Given the description of an element on the screen output the (x, y) to click on. 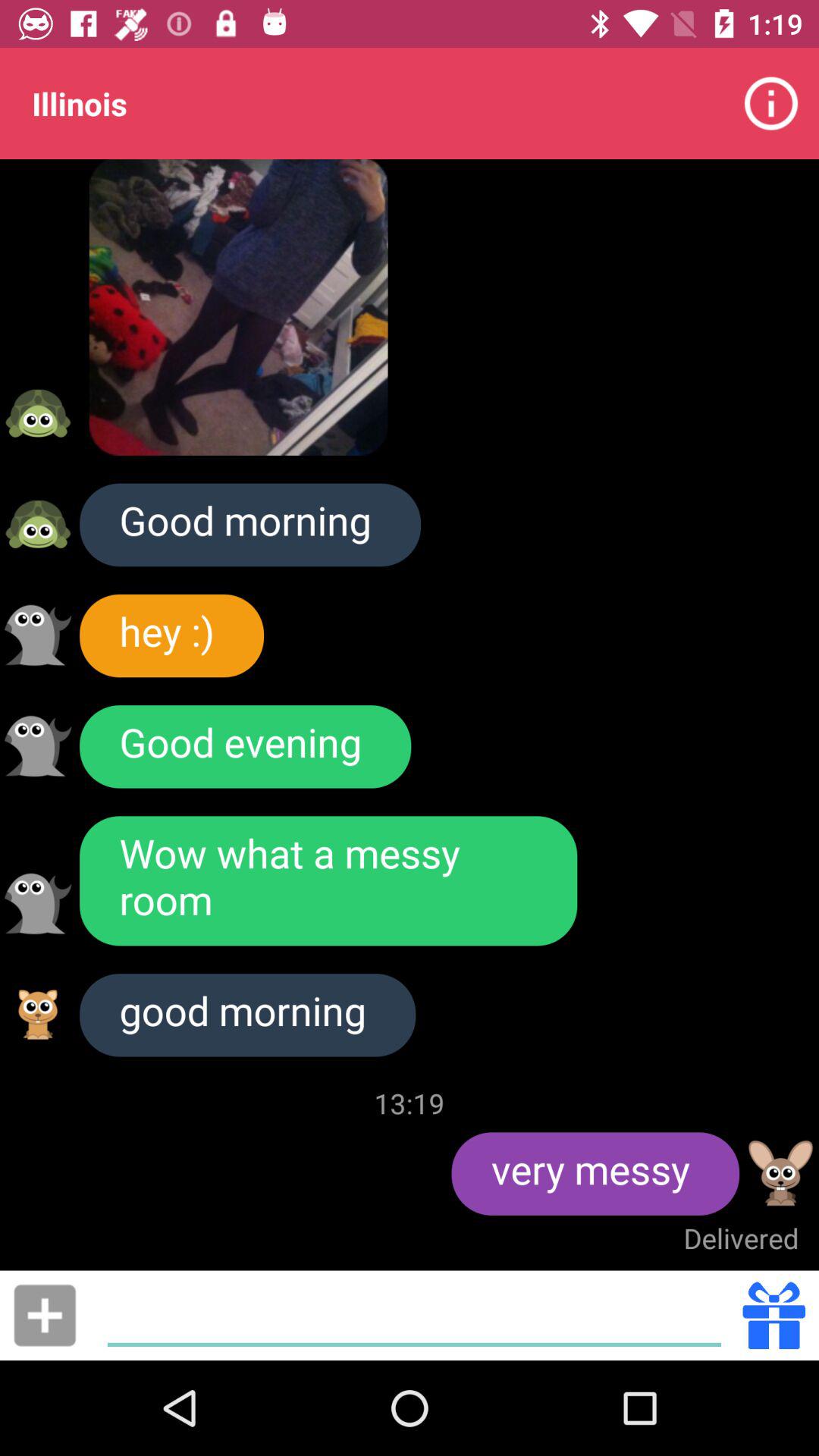
press the good evening  icon (245, 746)
